Given the description of an element on the screen output the (x, y) to click on. 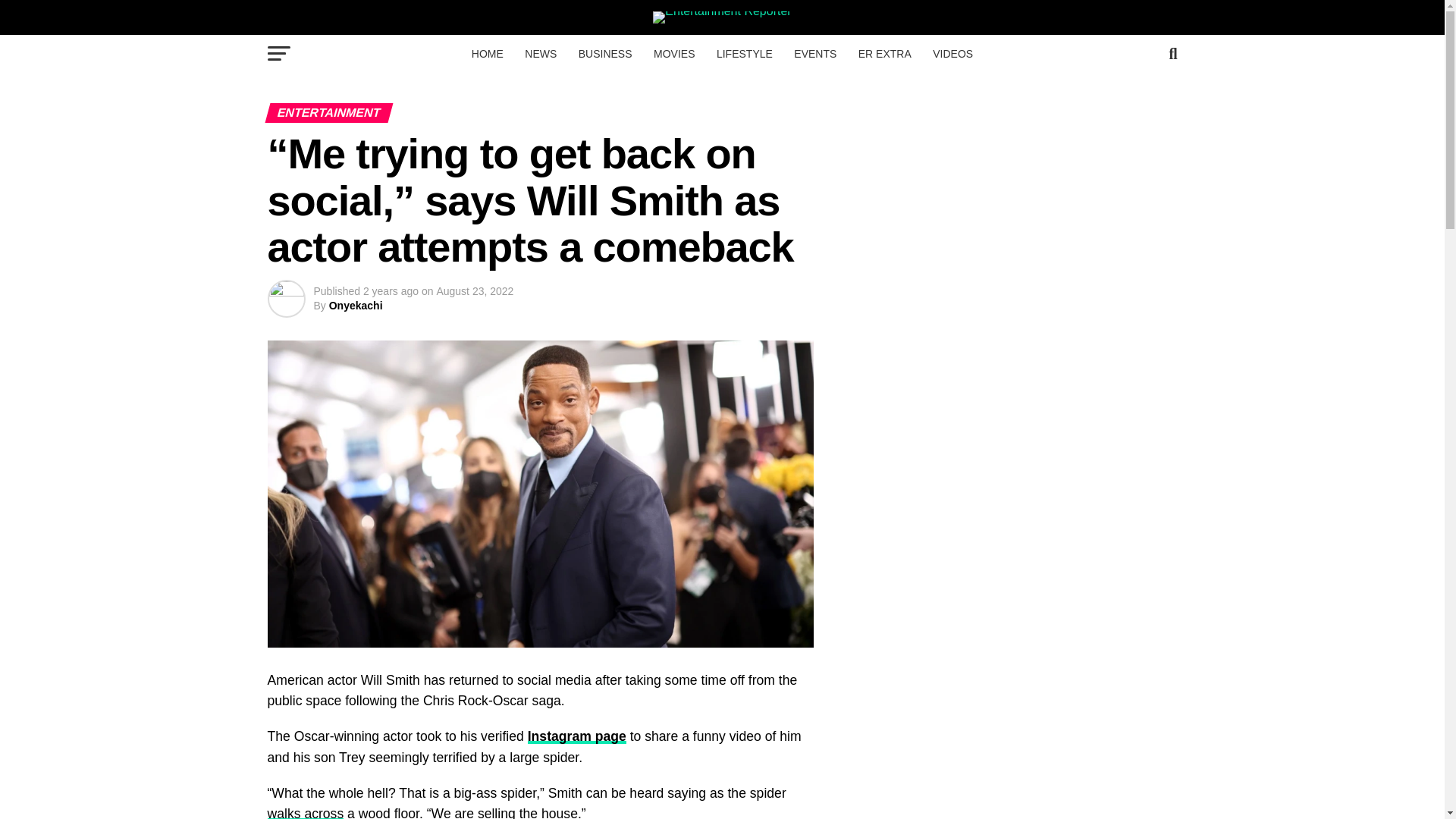
BUSINESS (605, 53)
NEWS (540, 53)
ER EXTRA (884, 53)
MOVIES (674, 53)
HOME (487, 53)
EVENTS (814, 53)
LIFESTYLE (744, 53)
